Given the description of an element on the screen output the (x, y) to click on. 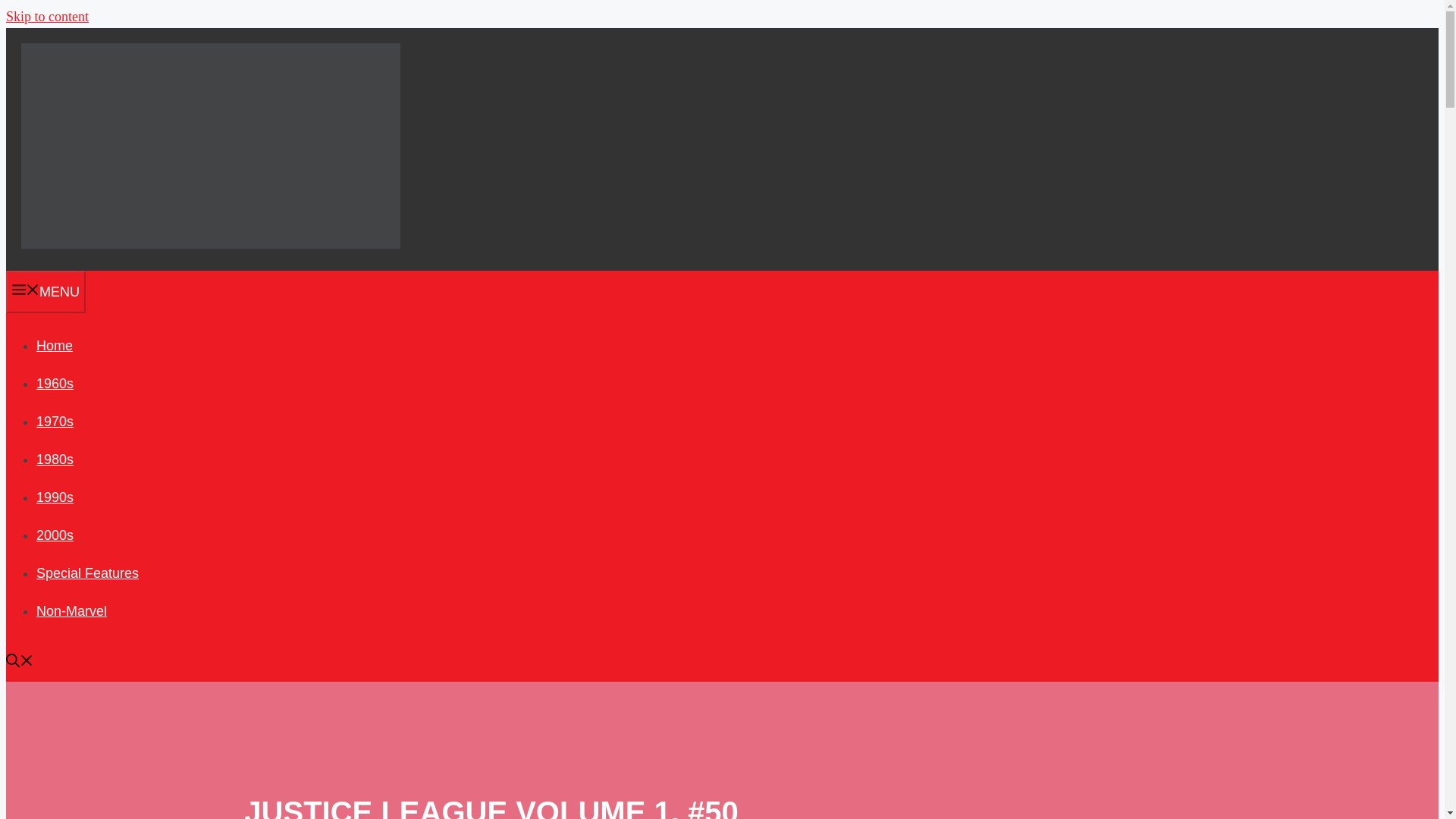
1980s (55, 459)
1990s (55, 497)
Special Features (87, 572)
Skip to content (46, 16)
Skip to content (46, 16)
2000s (55, 534)
1970s (55, 421)
MENU (45, 291)
Non-Marvel (71, 611)
Home (54, 345)
